Given the description of an element on the screen output the (x, y) to click on. 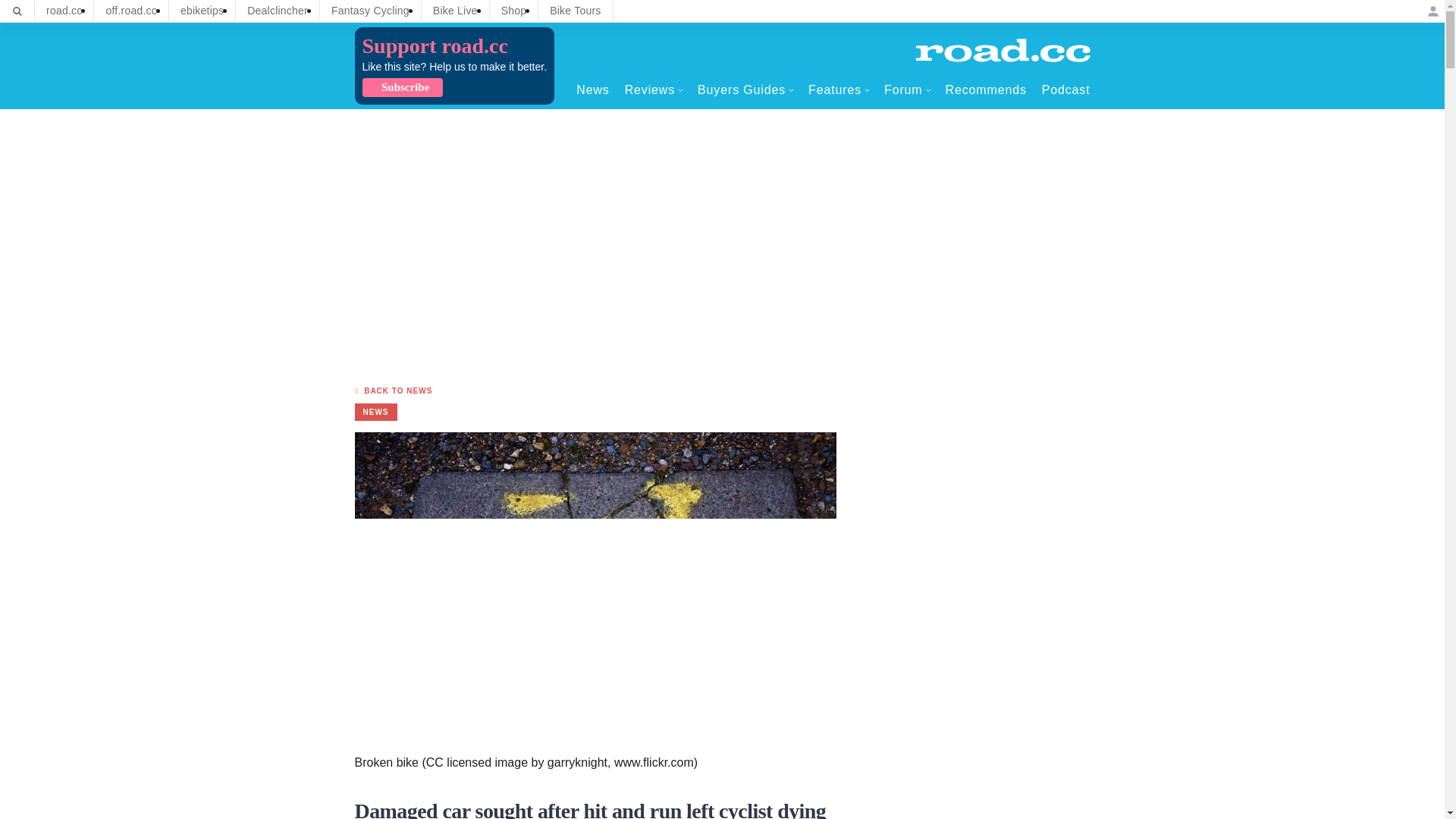
Reviews (653, 89)
Fantasy Cycling (370, 11)
News (592, 89)
Bike Tours (574, 11)
off.road.cc (131, 11)
ebiketips (201, 11)
Home (1002, 50)
Shop (513, 11)
Bike Live (455, 11)
Dealclincher (276, 11)
Subscribe (402, 87)
road.cc (63, 11)
